Given the description of an element on the screen output the (x, y) to click on. 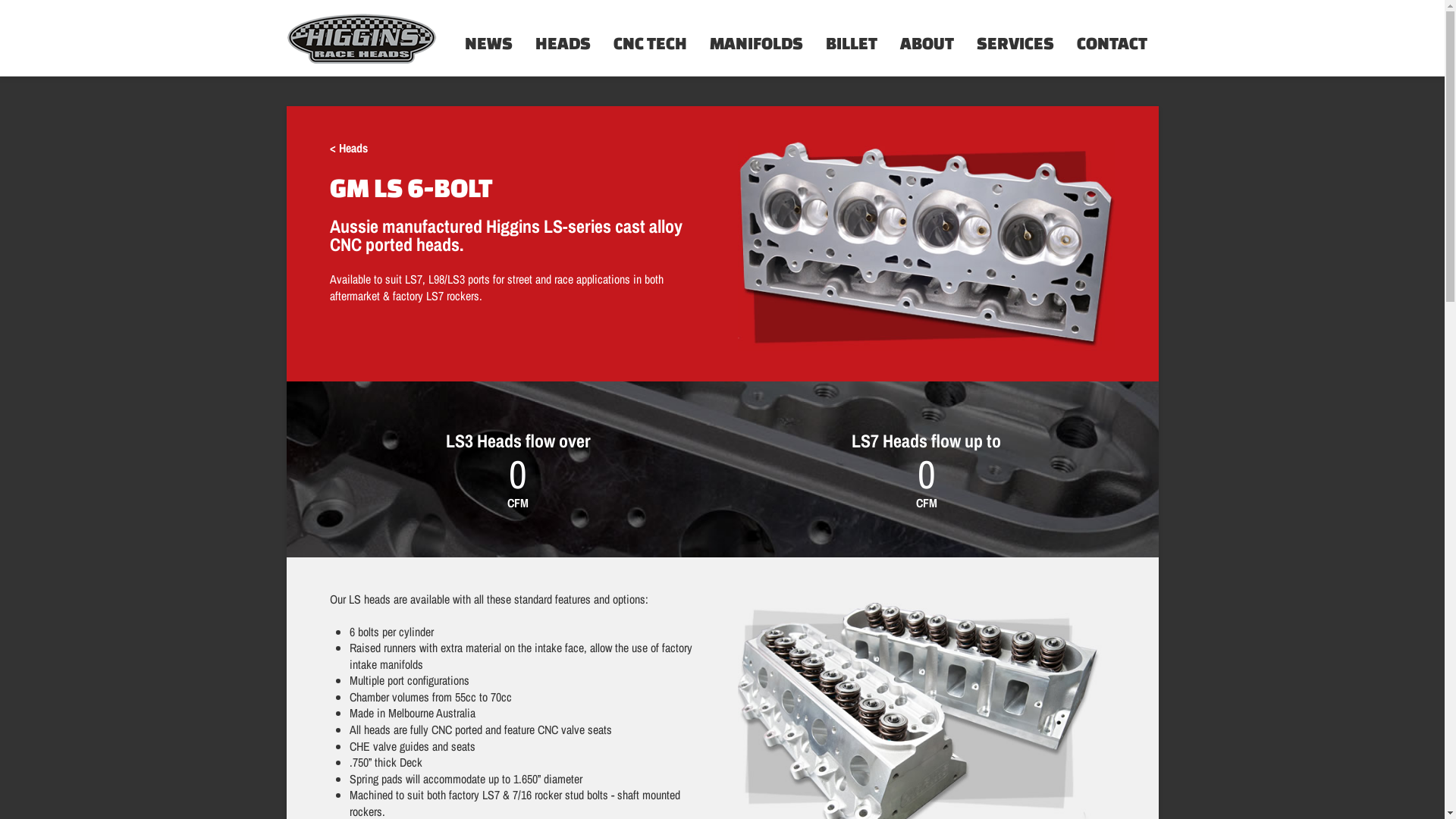
HEADS Element type: text (562, 37)
CONTACT Element type: text (1110, 37)
MANIFOLDS Element type: text (755, 37)
BILLET Element type: text (851, 37)
Heads Element type: text (352, 147)
NEWS Element type: text (488, 37)
ABOUT Element type: text (926, 37)
CNC TECH Element type: text (650, 37)
SERVICES Element type: text (1014, 37)
